Given the description of an element on the screen output the (x, y) to click on. 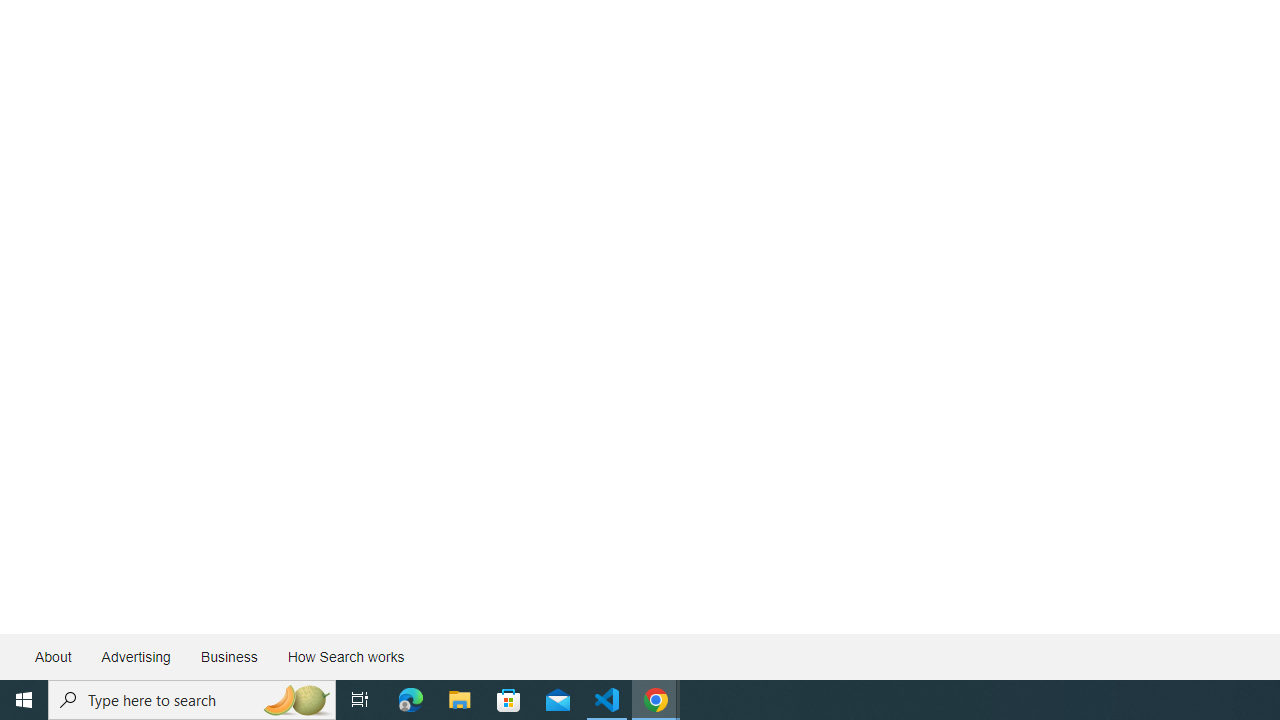
Advertising (135, 656)
How Search works (345, 656)
Business (228, 656)
